Given the description of an element on the screen output the (x, y) to click on. 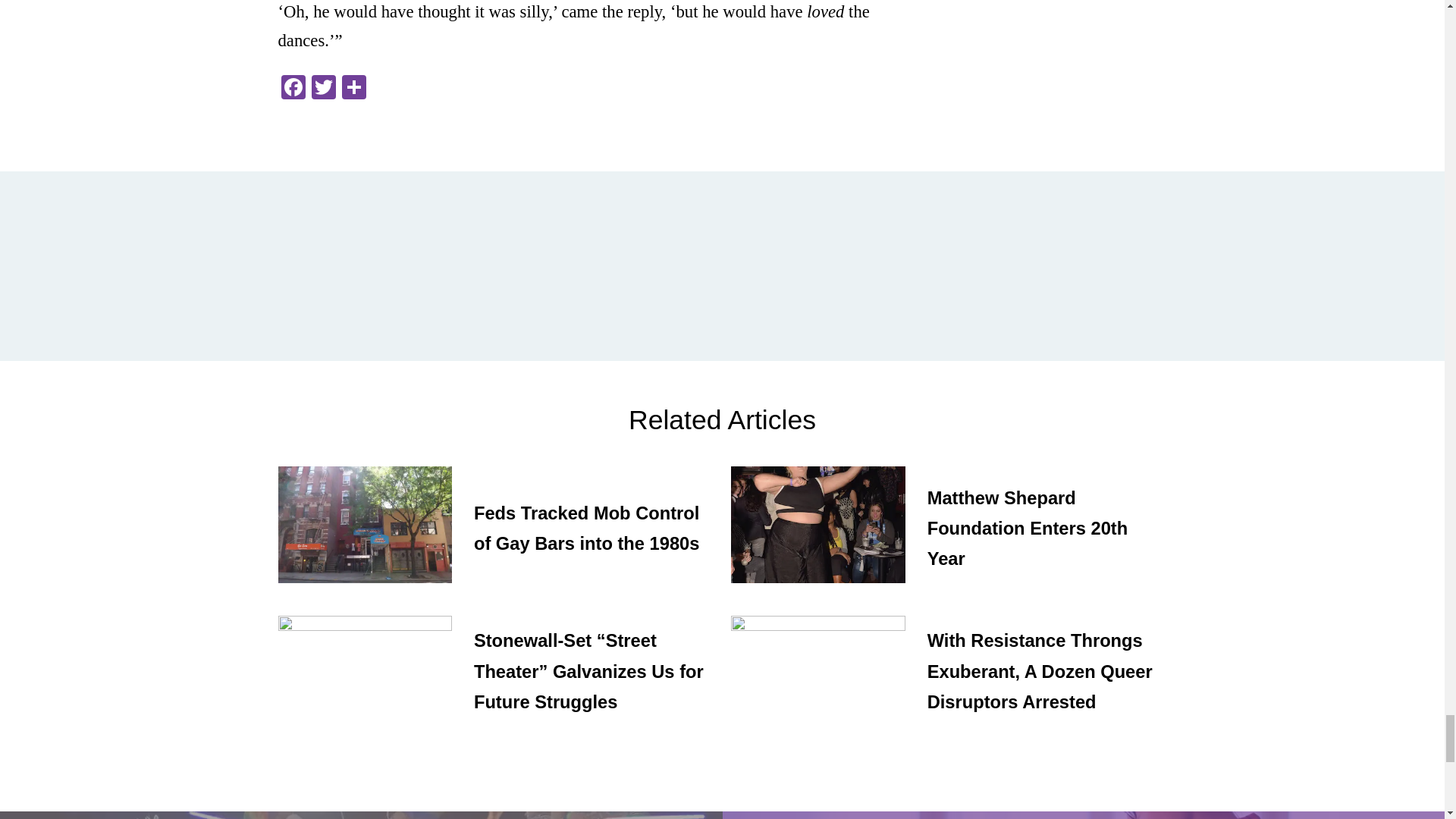
Facebook (292, 89)
